Given the description of an element on the screen output the (x, y) to click on. 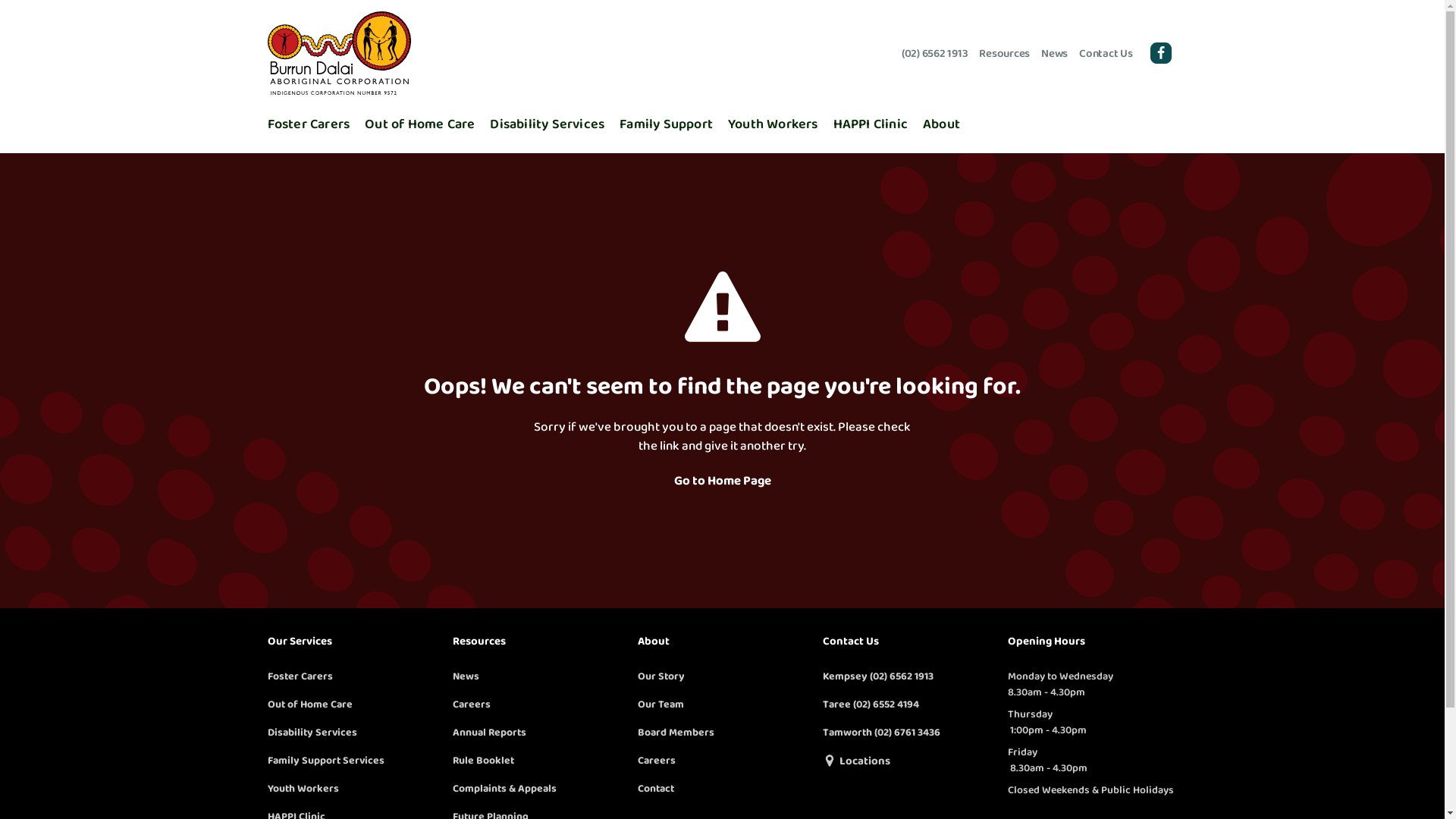
Family Support Services Element type: text (324, 760)
Contact Element type: text (655, 787)
Resources Element type: text (1004, 52)
Resources Element type: text (478, 640)
Foster Carers Element type: text (307, 123)
Locations Element type: text (863, 760)
Our Story Element type: text (660, 675)
Our Services Element type: text (298, 640)
Youth Workers Element type: text (302, 787)
Board Members Element type: text (675, 731)
Disability Services Element type: text (311, 731)
Annual Reports Element type: text (488, 731)
News Element type: text (1054, 52)
Rule Booklet Element type: text (482, 760)
Taree (02) 6552 4194 Element type: text (870, 704)
Careers Element type: text (470, 704)
Out of Home Care Element type: text (308, 704)
Our Team Element type: text (660, 704)
Go to Home Page Element type: text (721, 480)
Foster Carers Element type: text (299, 675)
About Element type: text (941, 123)
HAPPI Clinic Element type: text (870, 123)
Careers Element type: text (655, 760)
Youth Workers Element type: text (773, 123)
Out of Home Care Element type: text (419, 123)
Complaints & Appeals Element type: text (503, 787)
Family Support Element type: text (665, 123)
News Element type: text (464, 675)
(02) 6562 1913 Element type: text (934, 52)
Contact Us Element type: text (850, 640)
Contact Us Element type: text (1105, 52)
Kempsey (02) 6562 1913 Element type: text (877, 675)
About Element type: text (652, 640)
Tamworth (02) 6761 3436 Element type: text (880, 731)
Disability Services Element type: text (546, 123)
